Given the description of an element on the screen output the (x, y) to click on. 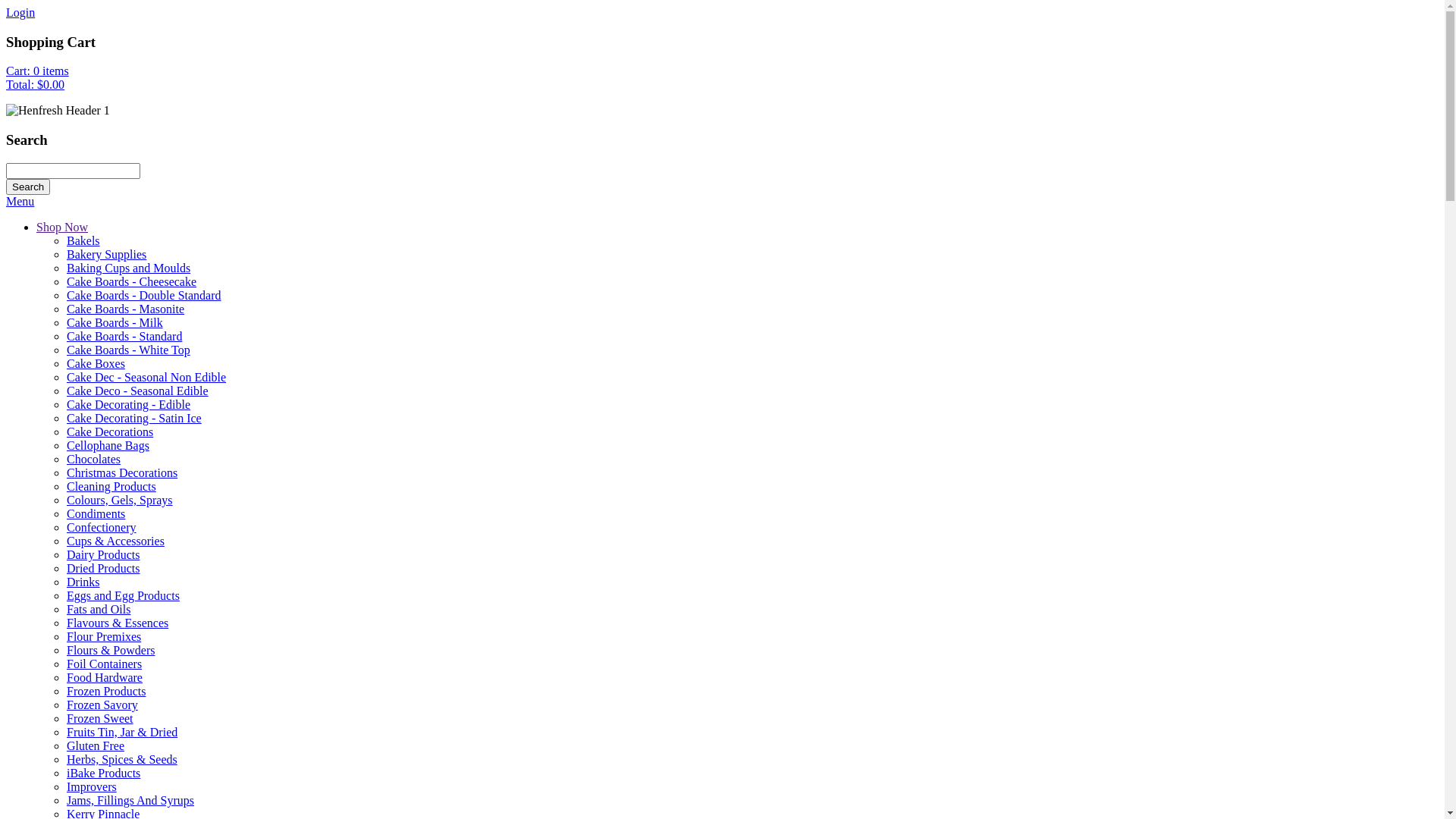
Chocolates Element type: text (93, 458)
Drinks Element type: text (83, 581)
Cart: 0 items Element type: text (37, 70)
Cake Boards - Milk Element type: text (114, 322)
Eggs and Egg Products Element type: text (122, 595)
Christmas Decorations Element type: text (121, 472)
Fats and Oils Element type: text (98, 608)
Total: $0.00 Element type: text (35, 84)
iBake Products Element type: text (103, 772)
Cake Boards - Masonite Element type: text (125, 308)
Foil Containers Element type: text (103, 663)
Dairy Products Element type: text (102, 554)
Login Element type: text (20, 12)
Fruits Tin, Jar & Dried Element type: text (121, 731)
Condiments Element type: text (95, 513)
Bakels Element type: text (83, 240)
Frozen Savory Element type: text (102, 704)
Flours & Powders Element type: text (110, 649)
Cake Decorating - Satin Ice Element type: text (133, 417)
Cake Boards - Double Standard Element type: text (143, 294)
Improvers Element type: text (91, 786)
Cake Dec - Seasonal Non Edible Element type: text (145, 376)
Search Element type: text (28, 186)
Herbs, Spices & Seeds Element type: text (121, 759)
Colours, Gels, Sprays Element type: text (119, 499)
Cleaning Products Element type: text (111, 486)
Cake Boards - Cheesecake Element type: text (131, 281)
Frozen Sweet Element type: text (99, 718)
Cups & Accessories Element type: text (115, 540)
Dried Products Element type: text (102, 567)
Bakery Supplies Element type: text (106, 253)
Food Hardware Element type: text (104, 677)
Flour Premixes Element type: text (103, 636)
Cake Decorating - Edible Element type: text (128, 404)
Gluten Free Element type: text (95, 745)
Cake Boxes Element type: text (95, 363)
Jams, Fillings And Syrups Element type: text (130, 799)
Cake Boards - Standard Element type: text (124, 335)
Cellophane Bags Element type: text (107, 445)
Frozen Products Element type: text (105, 690)
Flavours & Essences Element type: text (117, 622)
Shop Now Element type: text (61, 226)
Confectionery Element type: text (101, 526)
Cake Boards - White Top Element type: text (128, 349)
Cake Deco - Seasonal Edible Element type: text (137, 390)
Cake Decorations Element type: text (109, 431)
Baking Cups and Moulds Element type: text (128, 267)
Menu Element type: text (20, 200)
